Given the description of an element on the screen output the (x, y) to click on. 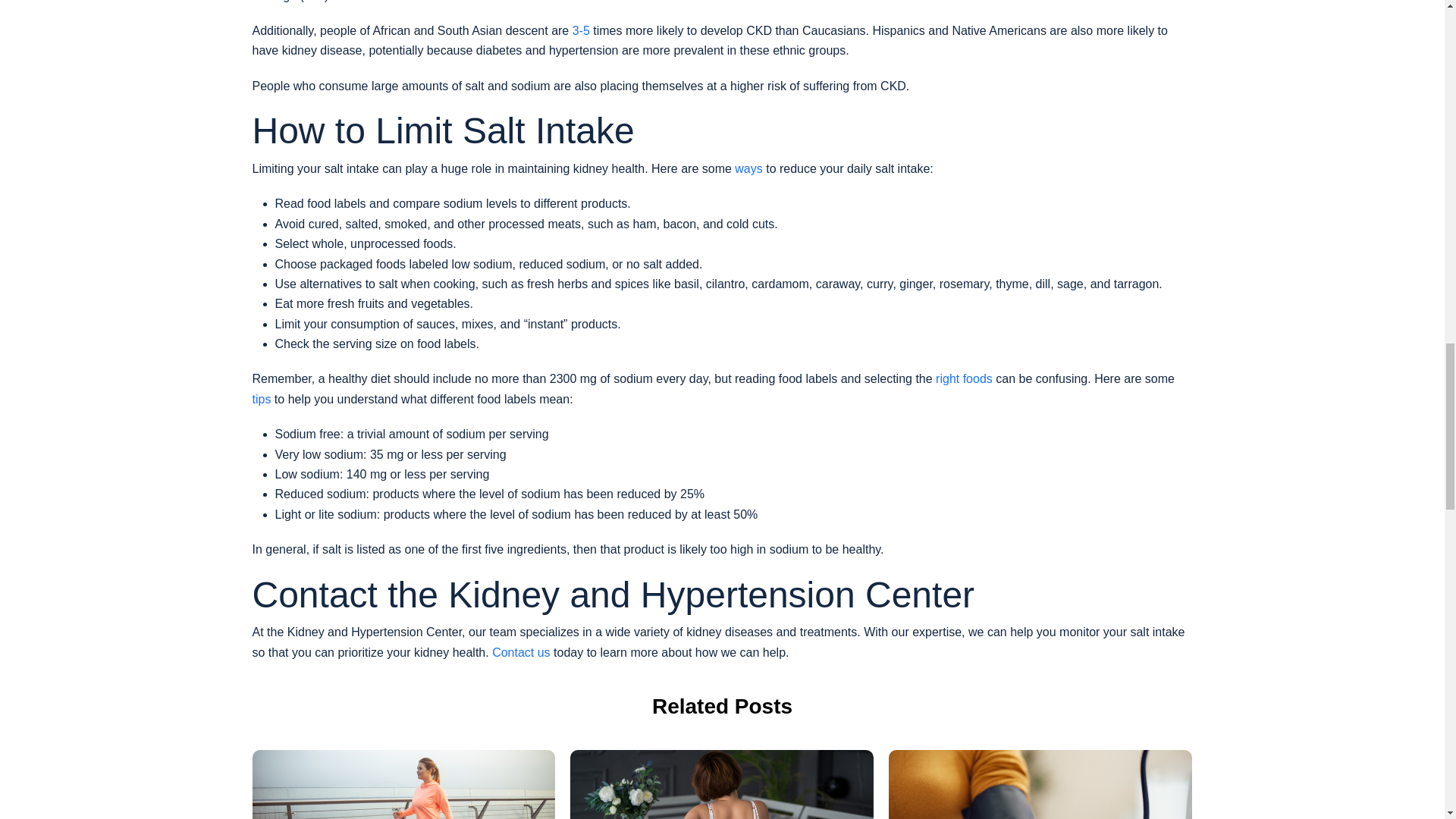
Contact us (521, 652)
3-5 (580, 30)
ways (748, 168)
tips (260, 399)
3 Ways to Control High Blood Pressure (402, 784)
right foods (964, 378)
Can Anxiety Cause High Blood Pressure? (1040, 784)
What Causes a Kidney Infection? (721, 784)
